Given the description of an element on the screen output the (x, y) to click on. 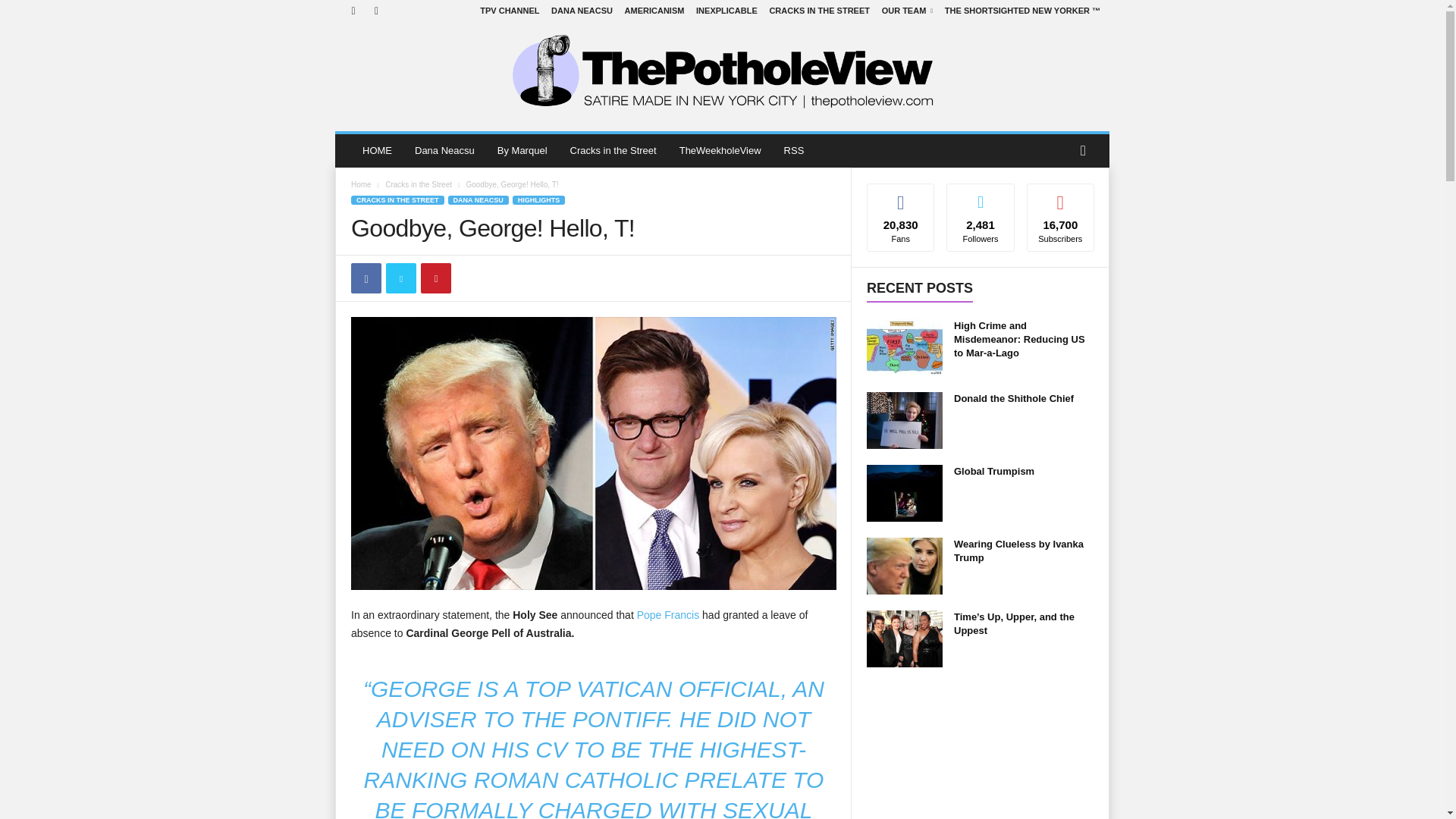
OUR TEAM (907, 10)
TPV CHANNEL (509, 10)
INEXPLICABLE (726, 10)
AMERICANISM (654, 10)
More articles about Pope Francis. (667, 614)
More articles about the Roman Catholic Church. (623, 688)
DANA NEACSU (581, 10)
View all posts in Cracks in the Street (418, 184)
CRACKS IN THE STREET (818, 10)
